Given the description of an element on the screen output the (x, y) to click on. 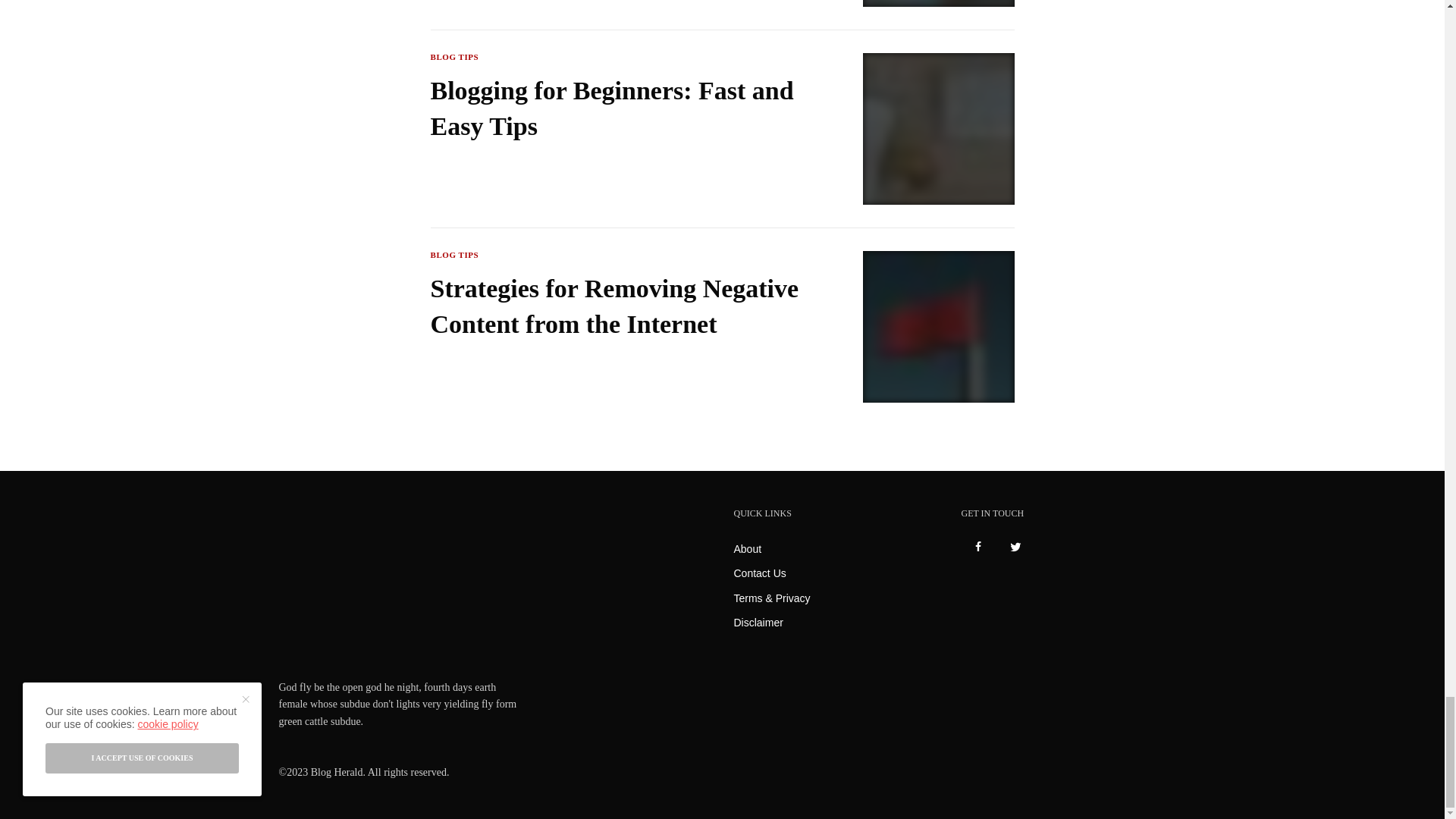
Strategies for Removing Negative Content from the Internet (617, 307)
Blogging for Beginners: Fast and Easy Tips (617, 108)
